Given the description of an element on the screen output the (x, y) to click on. 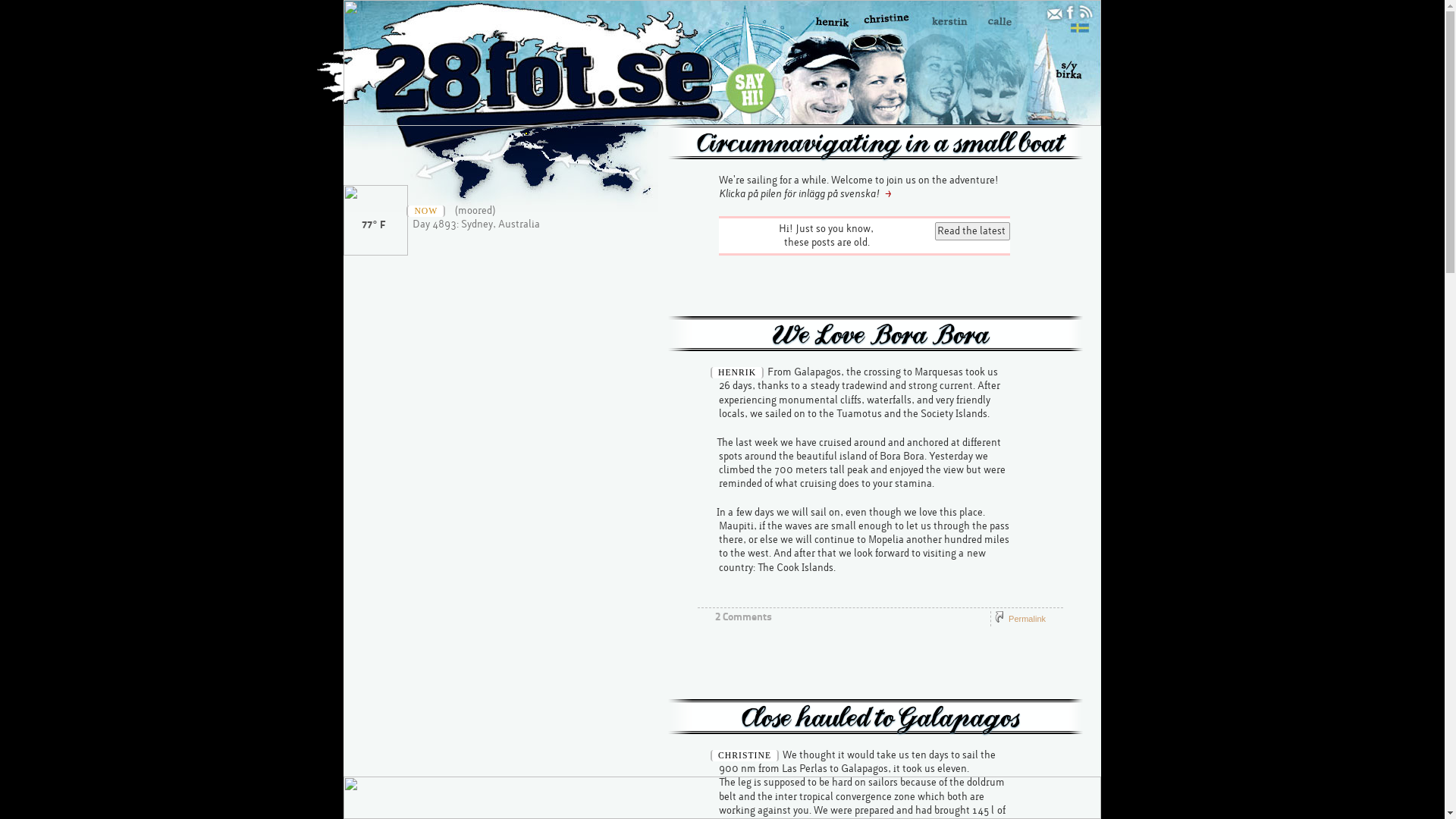
> Element type: text (888, 193)
2 Comments Element type: text (743, 617)
Read the latest Element type: text (972, 231)
Permalink Element type: text (1026, 618)
